Given the description of an element on the screen output the (x, y) to click on. 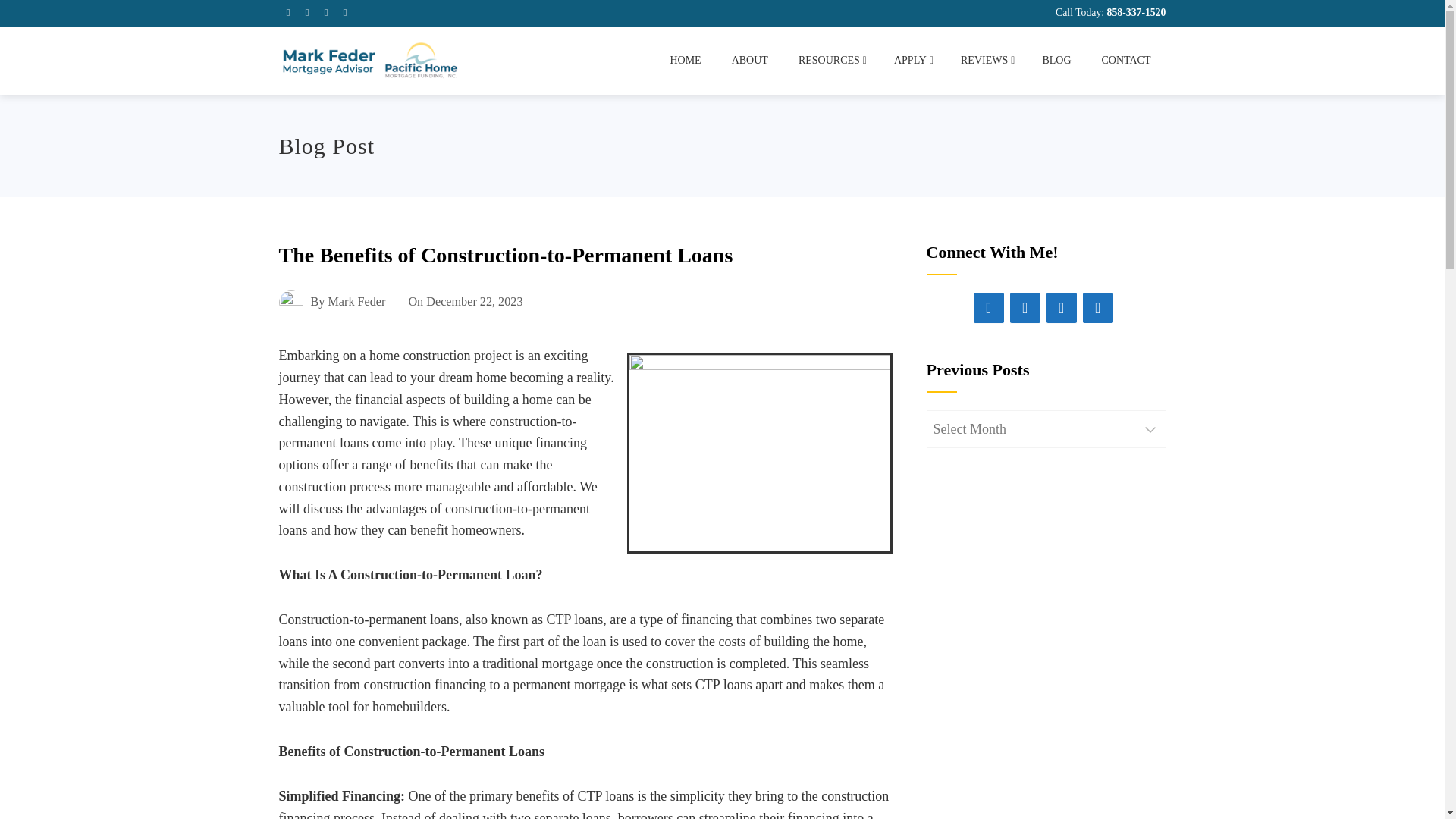
CONTACT (1126, 60)
Facebook (989, 307)
LinkedIn (1025, 307)
Twitter (1061, 307)
HOME (684, 60)
YouTube (1098, 307)
RESOURCES (831, 60)
ABOUT (749, 60)
APPLY (911, 60)
REVIEWS (985, 60)
